Given the description of an element on the screen output the (x, y) to click on. 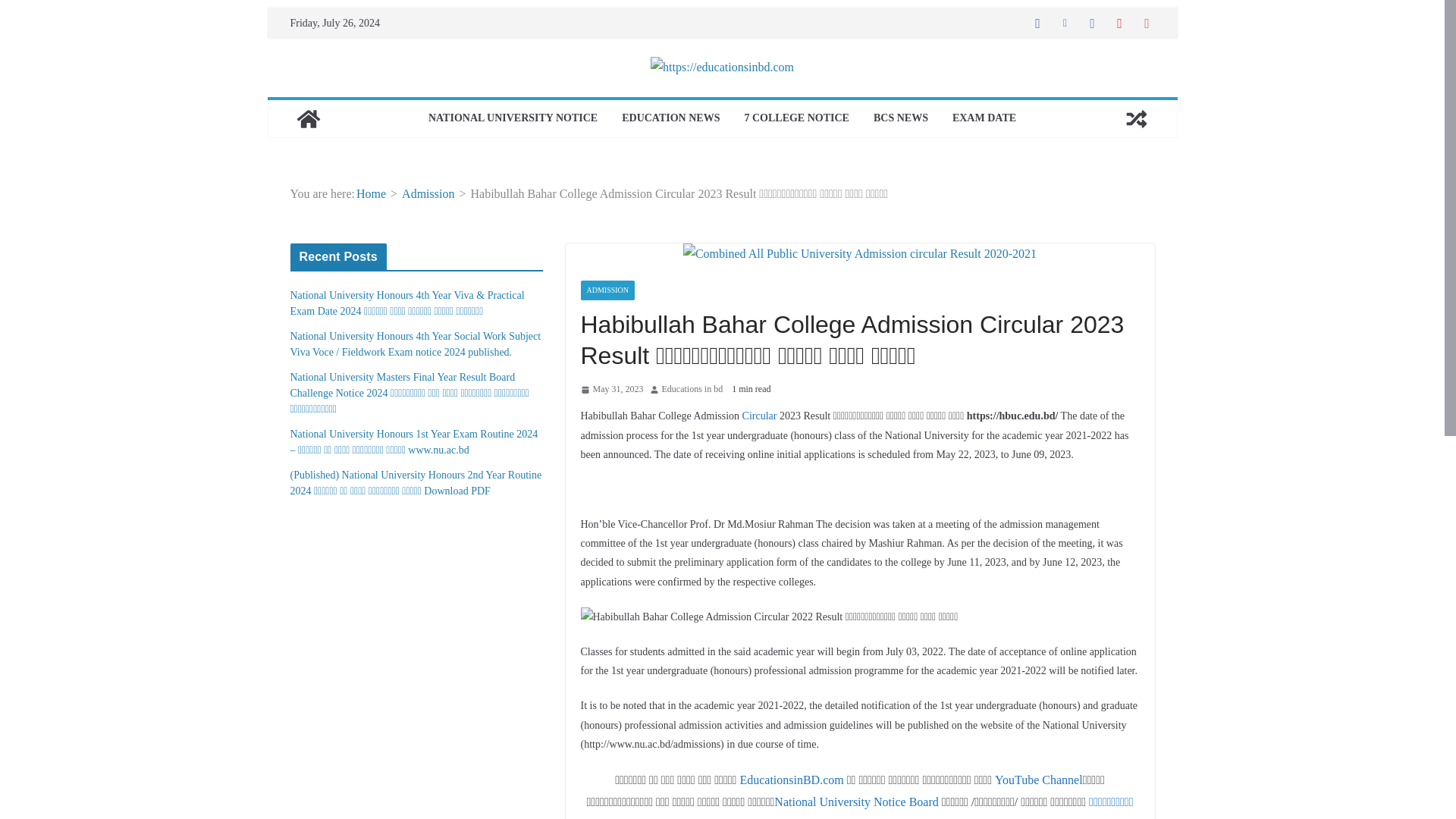
Educations in bd (691, 389)
EDUCATION NEWS (670, 118)
May 31, 2023 (611, 389)
Circular (759, 415)
Educations in bd (691, 389)
YouTube Channel (1038, 779)
EducationsInBD (307, 118)
BCS NEWS (900, 118)
10:24 AM (611, 389)
View a random post (1136, 118)
7 COLLEGE NOTICE (796, 118)
ADMISSION (607, 290)
National University Notice Board (857, 801)
